Given the description of an element on the screen output the (x, y) to click on. 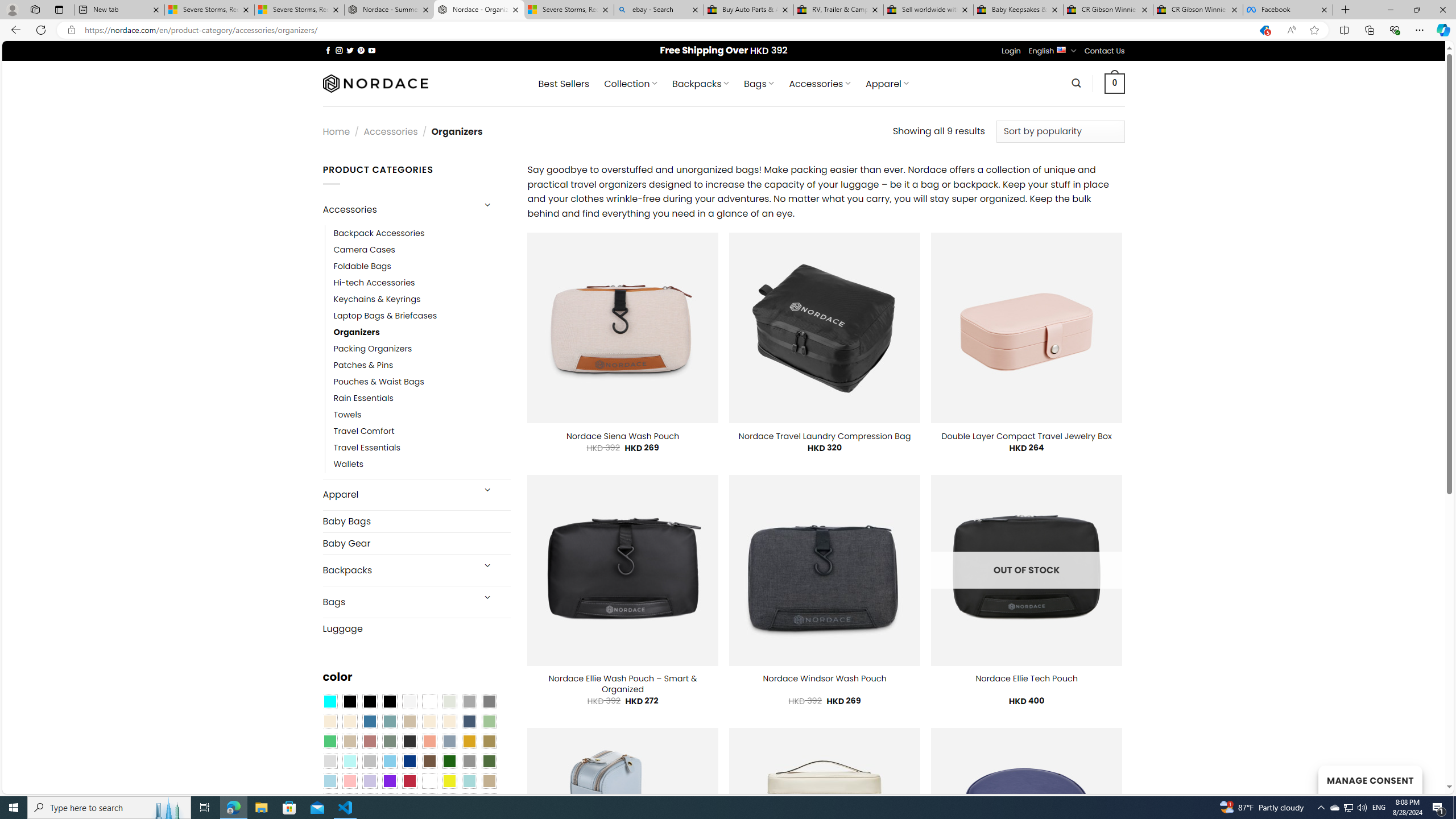
All Gray (488, 701)
Shop order (1060, 131)
Nordace Travel Laundry Compression Bag (824, 436)
Towels (422, 415)
Light Gray (329, 761)
Laptop Bags & Briefcases (384, 316)
ebay - Search (658, 9)
 0  (1115, 83)
Brownie (408, 721)
View site information (70, 29)
Bags (397, 602)
Baby Gear (416, 542)
Wallets (348, 464)
